Given the description of an element on the screen output the (x, y) to click on. 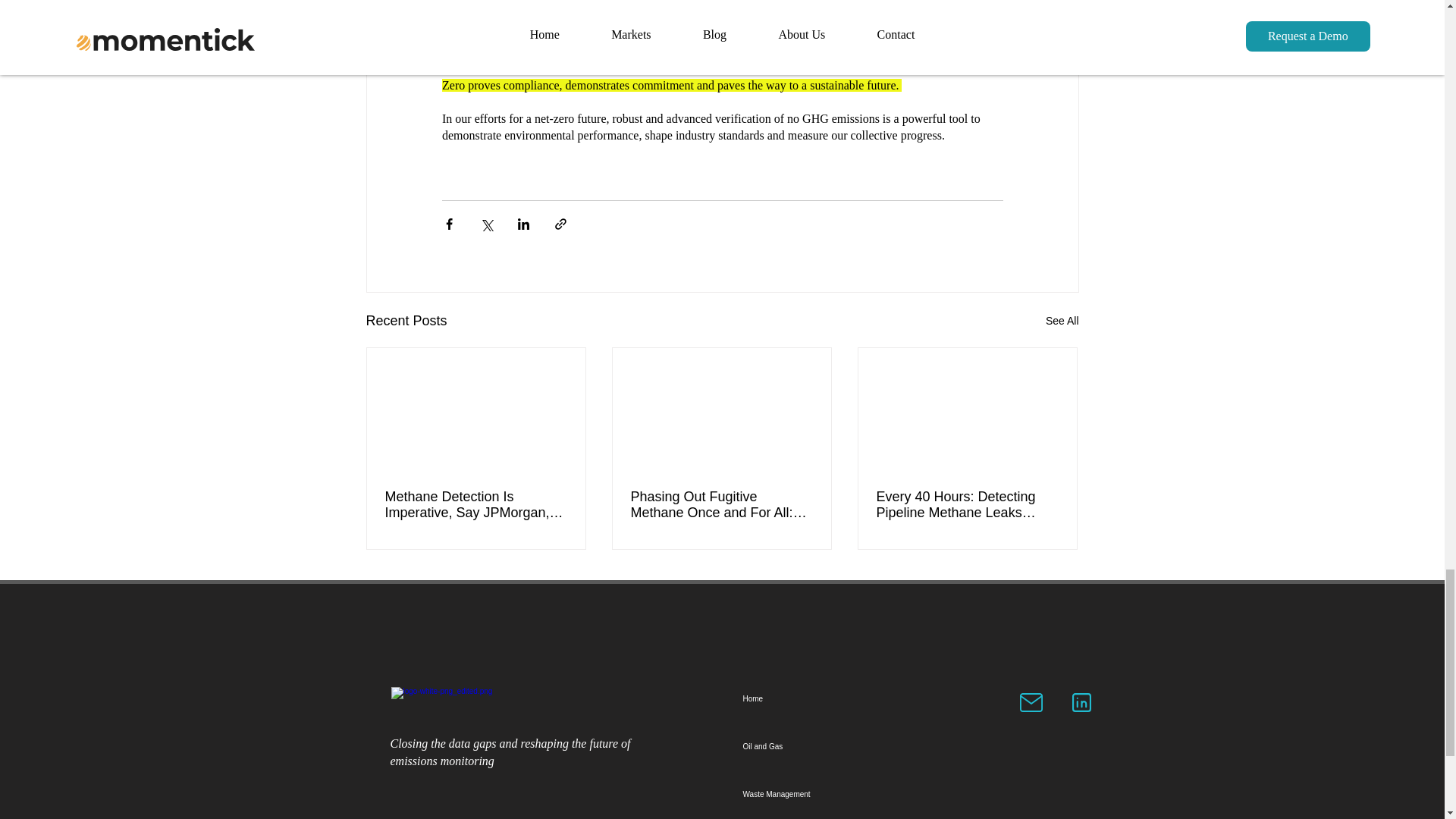
Oil and Gas (816, 746)
Waste Management (816, 794)
See All (1061, 321)
Home (816, 698)
